Given the description of an element on the screen output the (x, y) to click on. 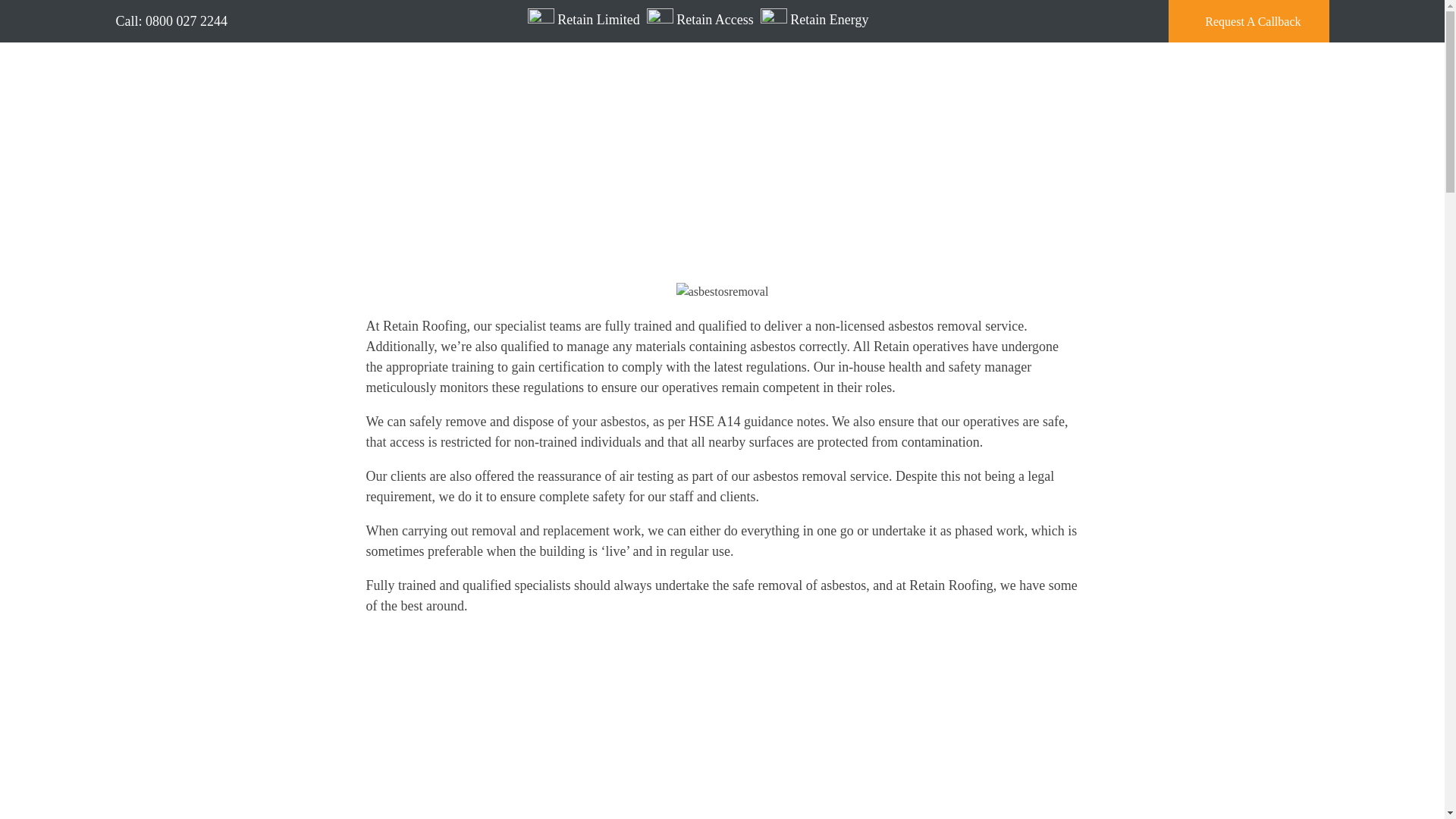
0800 027 2244 (186, 20)
asbestosremoval (722, 291)
Retain Energy (814, 19)
Retain Access (700, 19)
Retain Limited (583, 19)
Request A Callback (1248, 21)
